Given the description of an element on the screen output the (x, y) to click on. 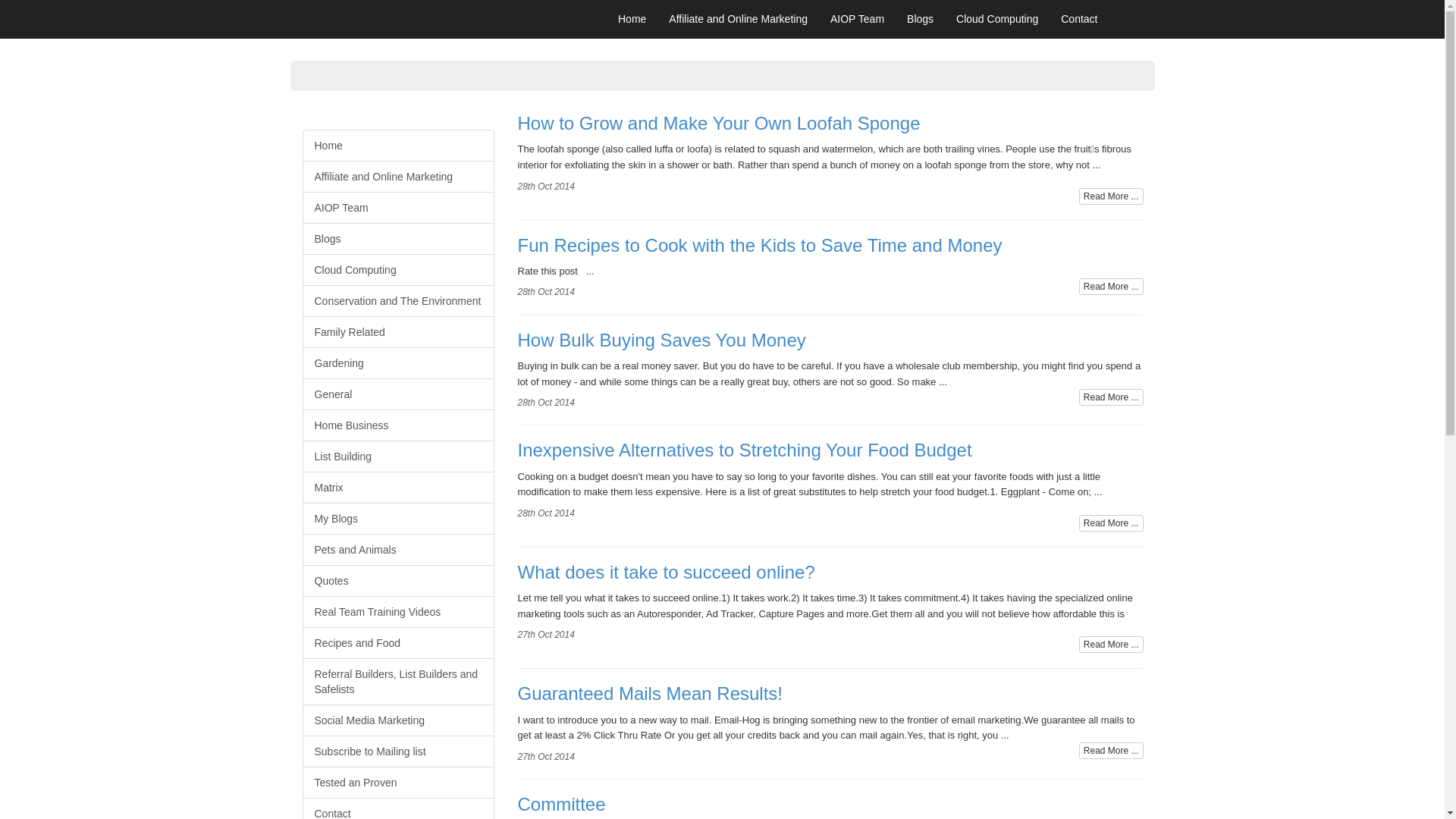
AIOP Team Element type: text (857, 18)
Home Business Element type: text (397, 425)
What does it take to succeed online? Element type: text (829, 582)
Referral Builders, List Builders and Safelists Element type: text (397, 681)
Contact Element type: text (1078, 18)
Home Element type: text (397, 145)
Subscribe to Mailing list Element type: text (397, 751)
List Building Element type: text (397, 456)
Blogs Element type: text (919, 18)
AIOP Team Element type: text (397, 207)
Blogs Element type: text (397, 238)
Real Team Training Videos Element type: text (397, 611)
Quotes Element type: text (397, 580)
Home Element type: text (631, 18)
Cloud Computing Element type: text (996, 18)
Affiliate and Online Marketing Element type: text (397, 176)
Fun Recipes to Cook with the Kids to Save Time and Money Element type: text (829, 255)
Pets and Animals Element type: text (397, 549)
Affiliate and Online Marketing Element type: text (738, 18)
Guaranteed Mails Mean Results! Element type: text (829, 704)
Read More ... Element type: text (1111, 286)
How to Grow and Make Your Own Loofah Sponge Element type: text (829, 133)
Social Media Marketing Element type: text (397, 720)
Matrix Element type: text (397, 487)
Family Related Element type: text (397, 332)
Tested an Proven Element type: text (397, 782)
General Element type: text (397, 394)
Read More ... Element type: text (1111, 196)
My Blogs Element type: text (397, 518)
How Bulk Buying Saves You Money Element type: text (829, 350)
Read More ... Element type: text (1111, 522)
Inexpensive Alternatives to Stretching Your Food Budget Element type: text (829, 460)
Read More ... Element type: text (1111, 750)
Read More ... Element type: text (1111, 397)
Read More ... Element type: text (1111, 644)
Cloud Computing Element type: text (397, 269)
Conservation and The Environment Element type: text (397, 300)
Gardening Element type: text (397, 363)
Recipes and Food Element type: text (397, 642)
